Given the description of an element on the screen output the (x, y) to click on. 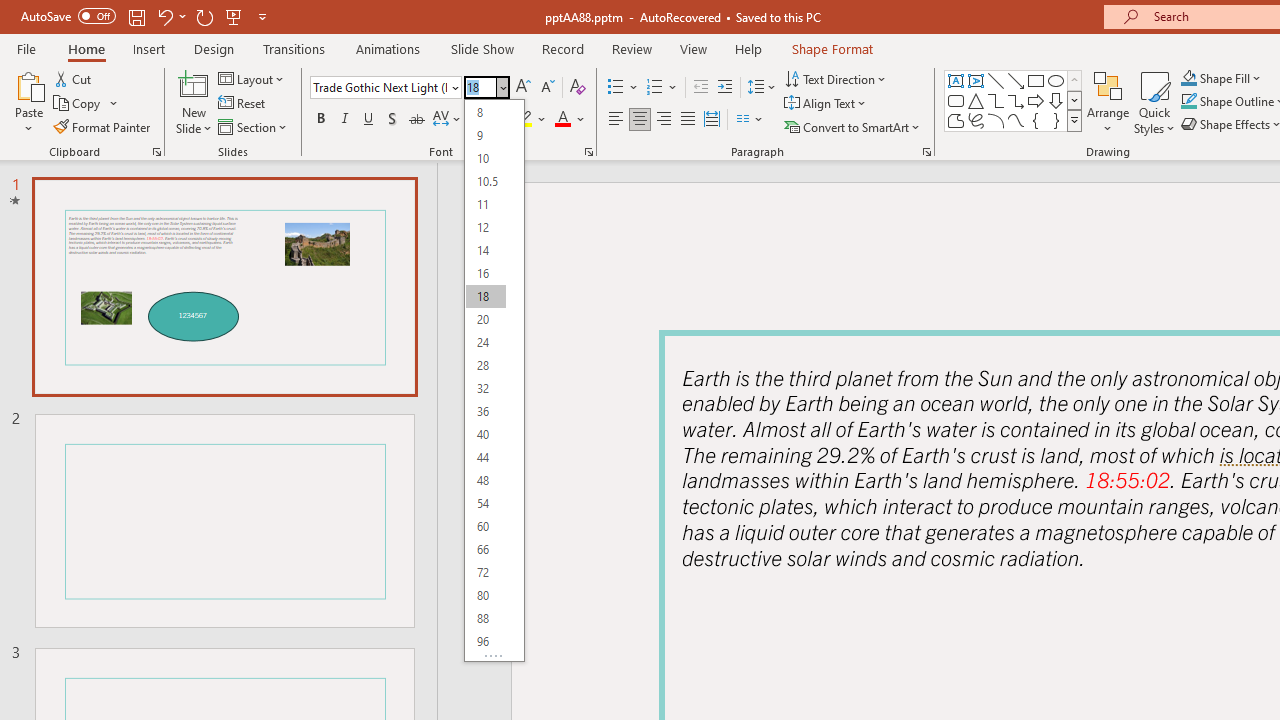
36 (485, 411)
12 (485, 227)
